Given the description of an element on the screen output the (x, y) to click on. 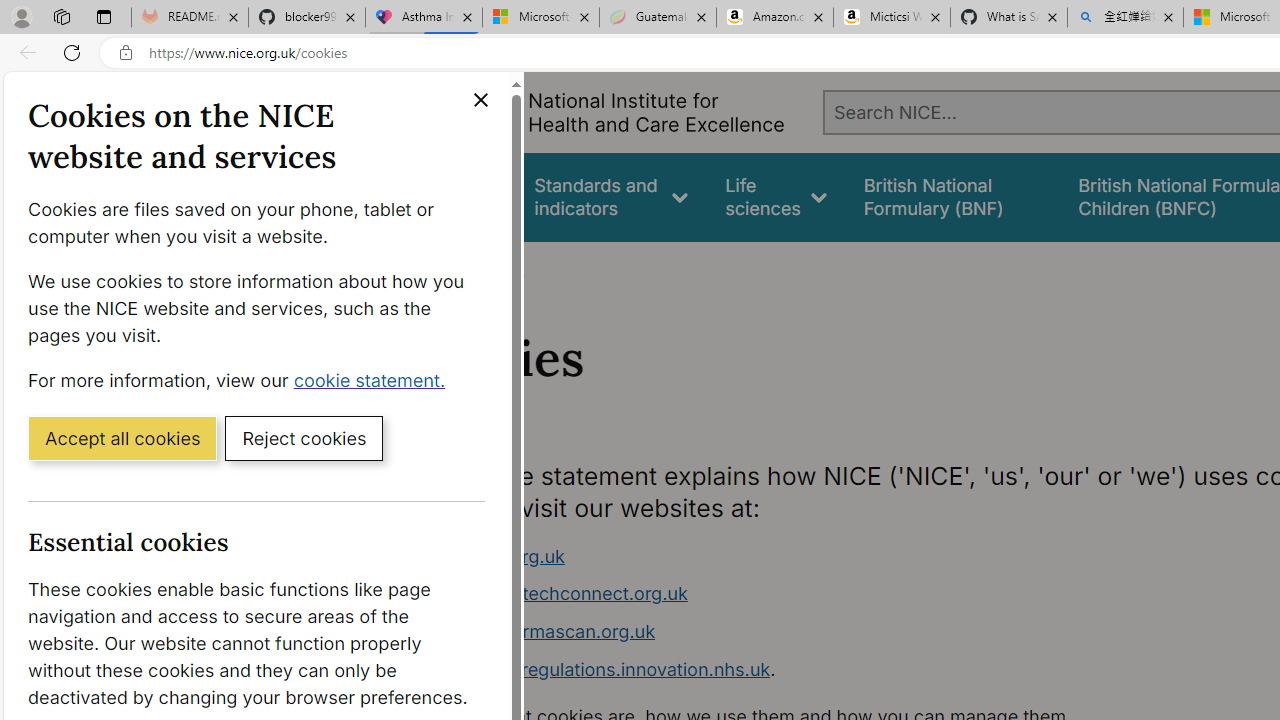
Close cookie banner (480, 99)
www.ukpharmascan.org.uk (796, 632)
Life sciences (776, 196)
www.digitalregulations.innovation.nhs.uk (595, 668)
false (952, 196)
www.nice.org.uk (492, 556)
